Given the description of an element on the screen output the (x, y) to click on. 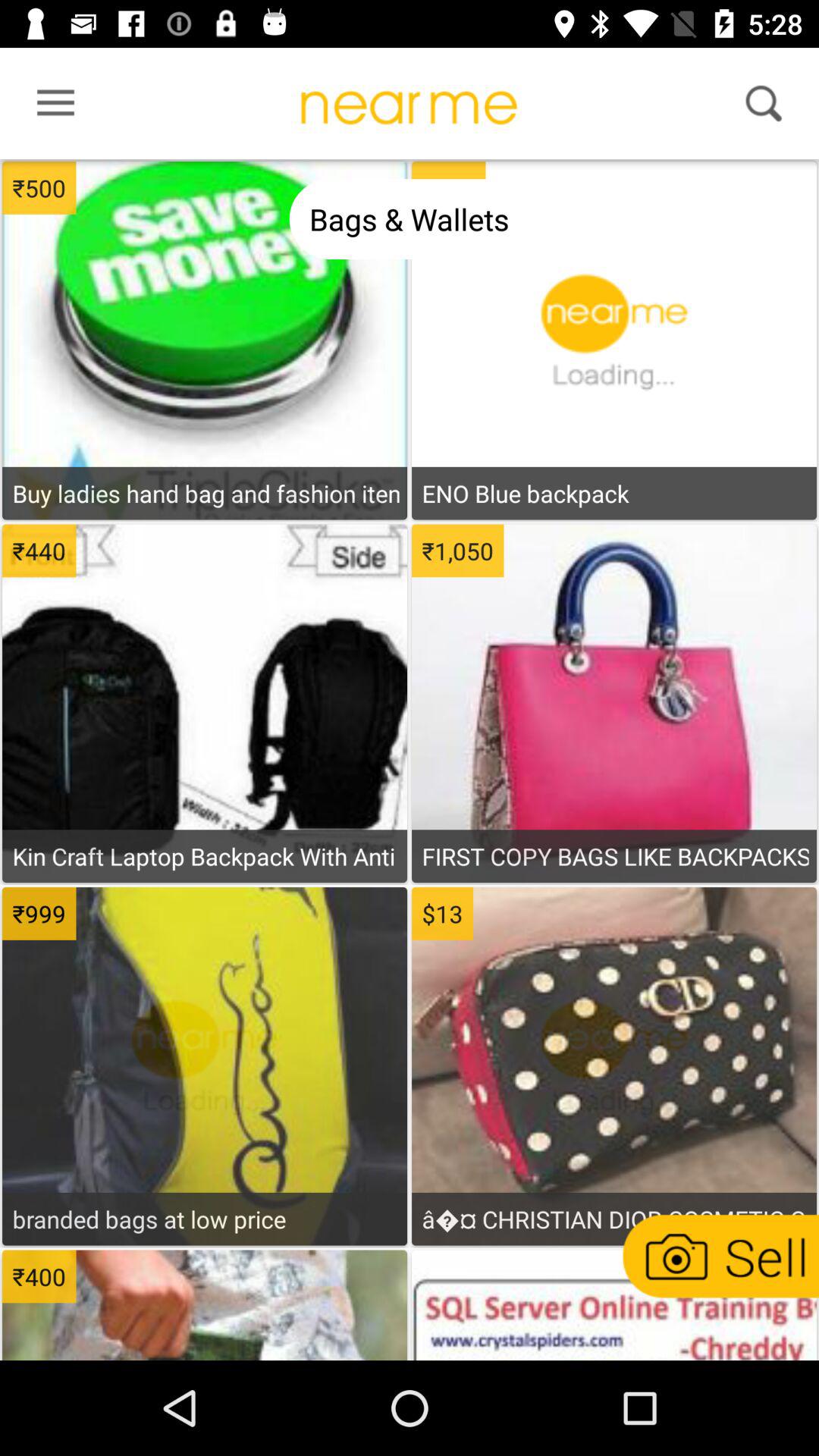
upload a picture (719, 1255)
